Given the description of an element on the screen output the (x, y) to click on. 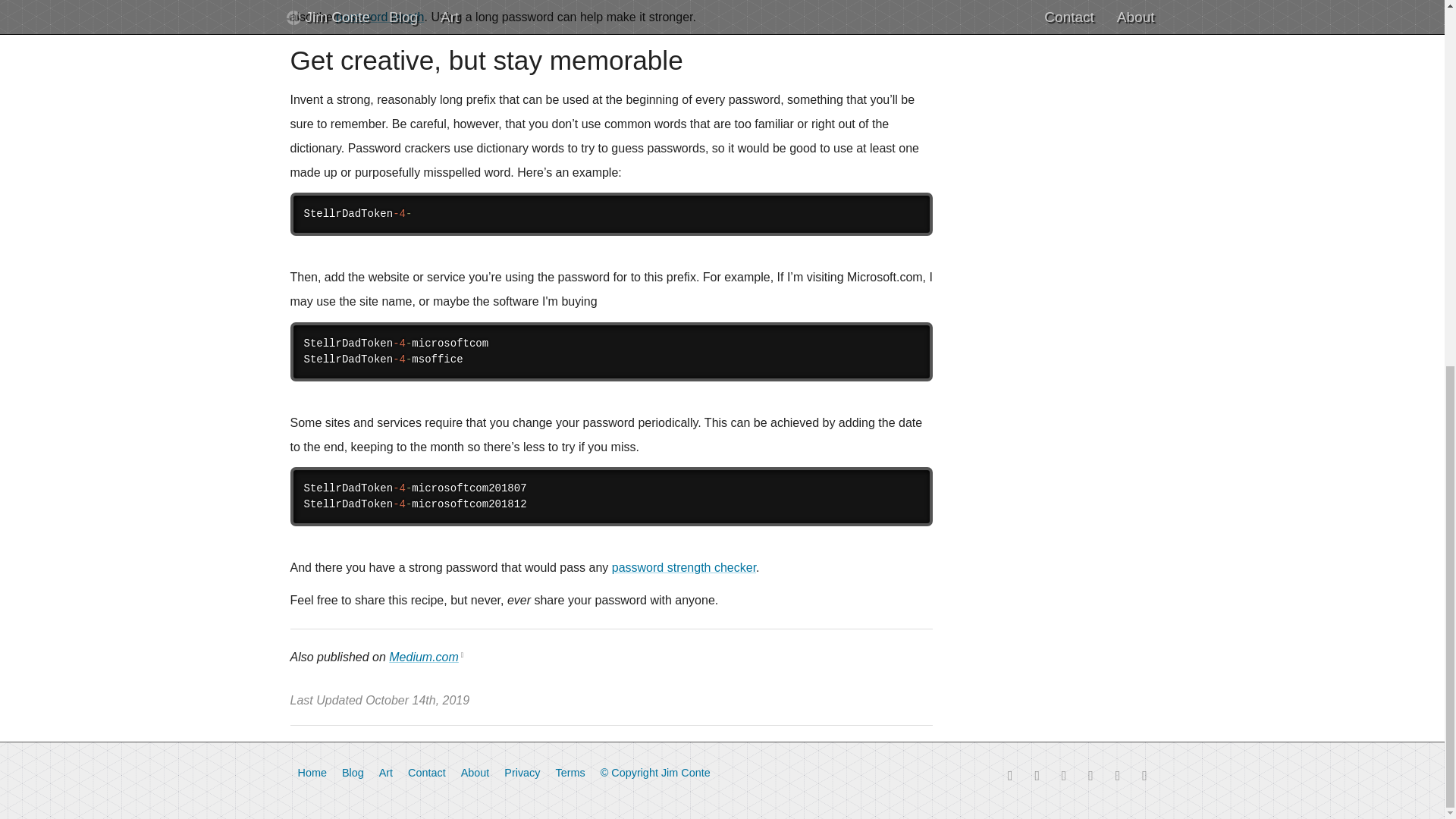
Medium.com (423, 656)
password length (380, 16)
password strength checker (683, 567)
